Given the description of an element on the screen output the (x, y) to click on. 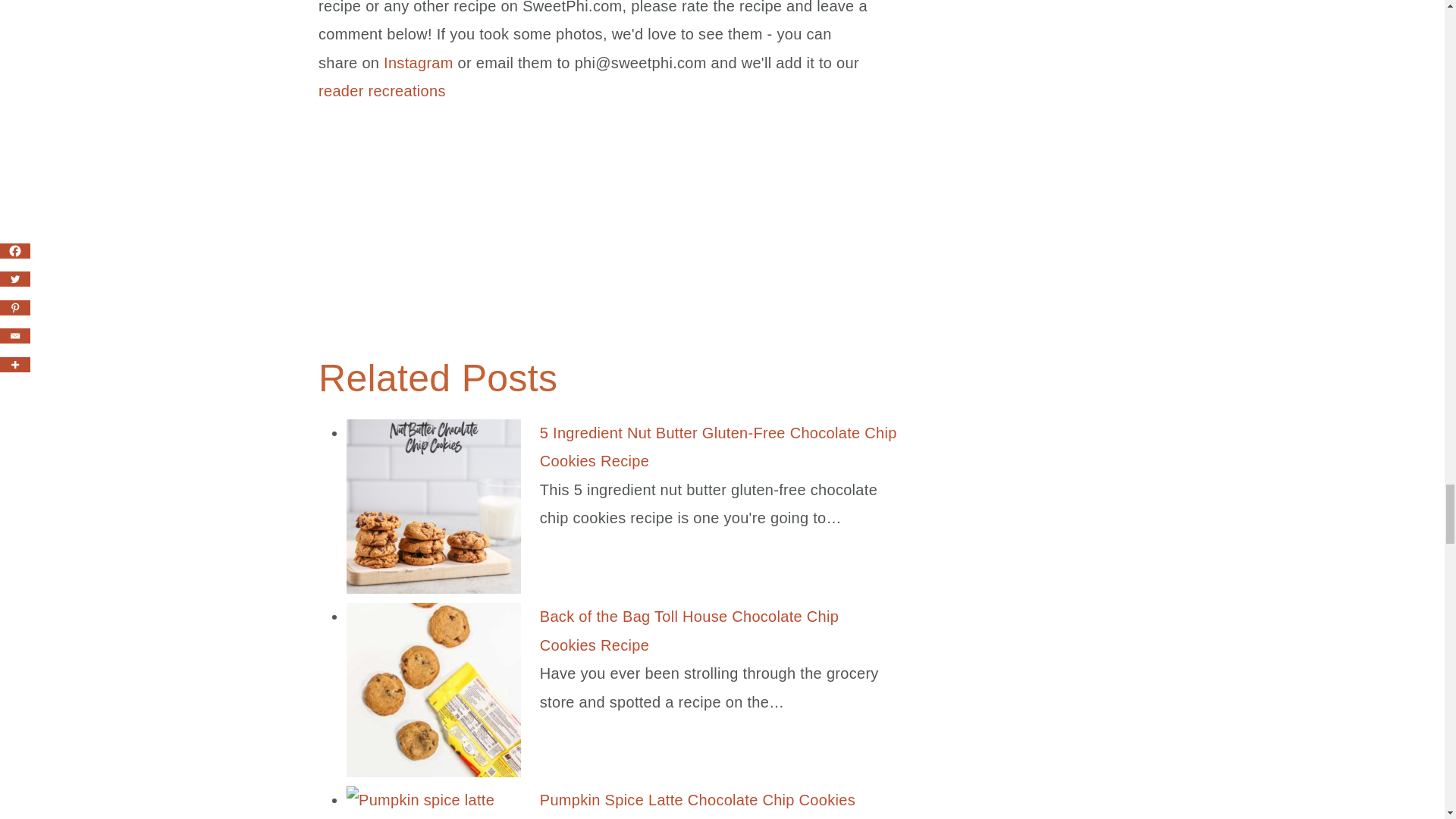
Instagram (418, 62)
reader recreations (381, 90)
